Given the description of an element on the screen output the (x, y) to click on. 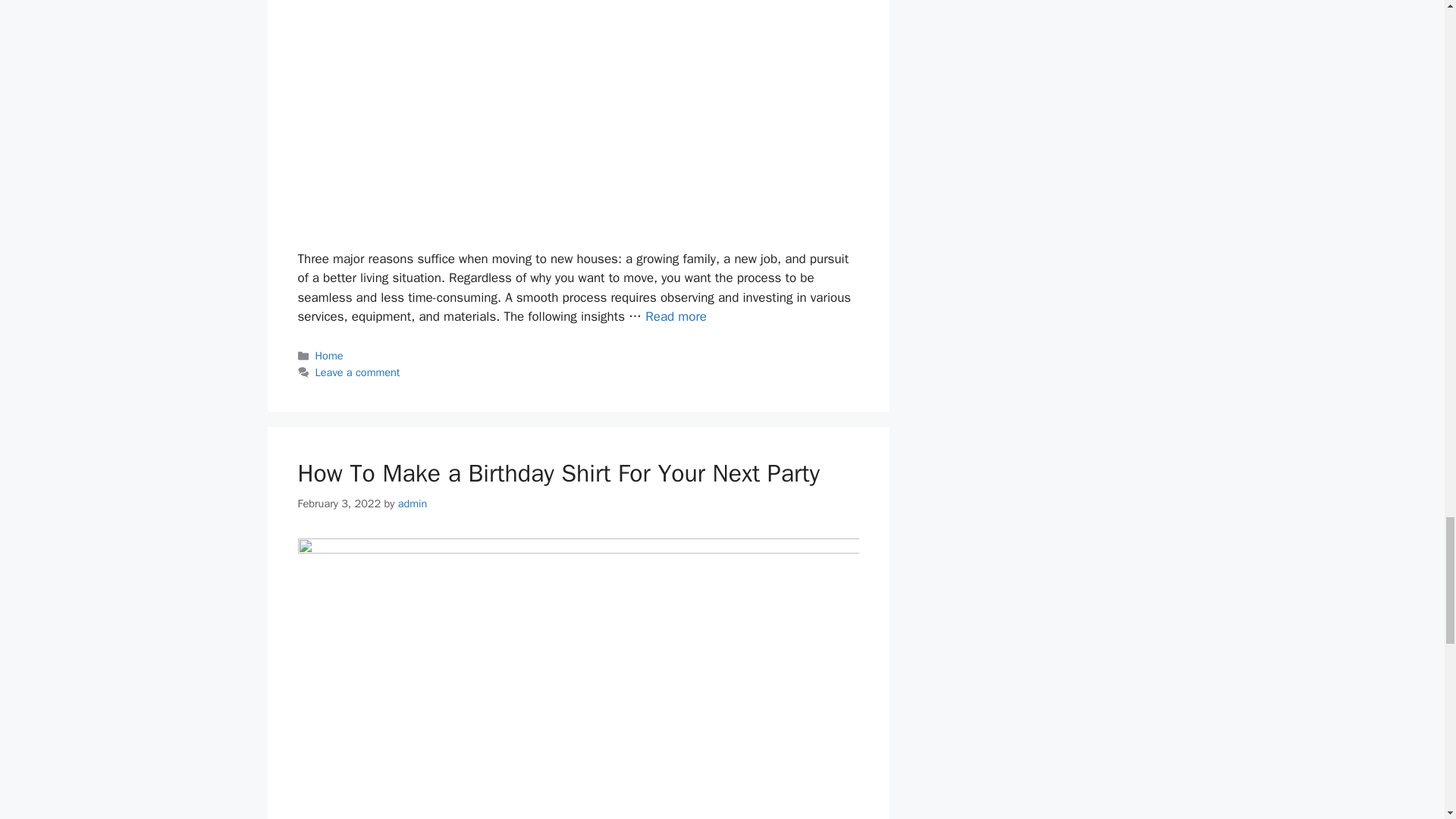
Must-Have Services When Moving Into A New Home (675, 316)
View all posts by admin (412, 503)
Home (329, 355)
Read more (675, 316)
